Given the description of an element on the screen output the (x, y) to click on. 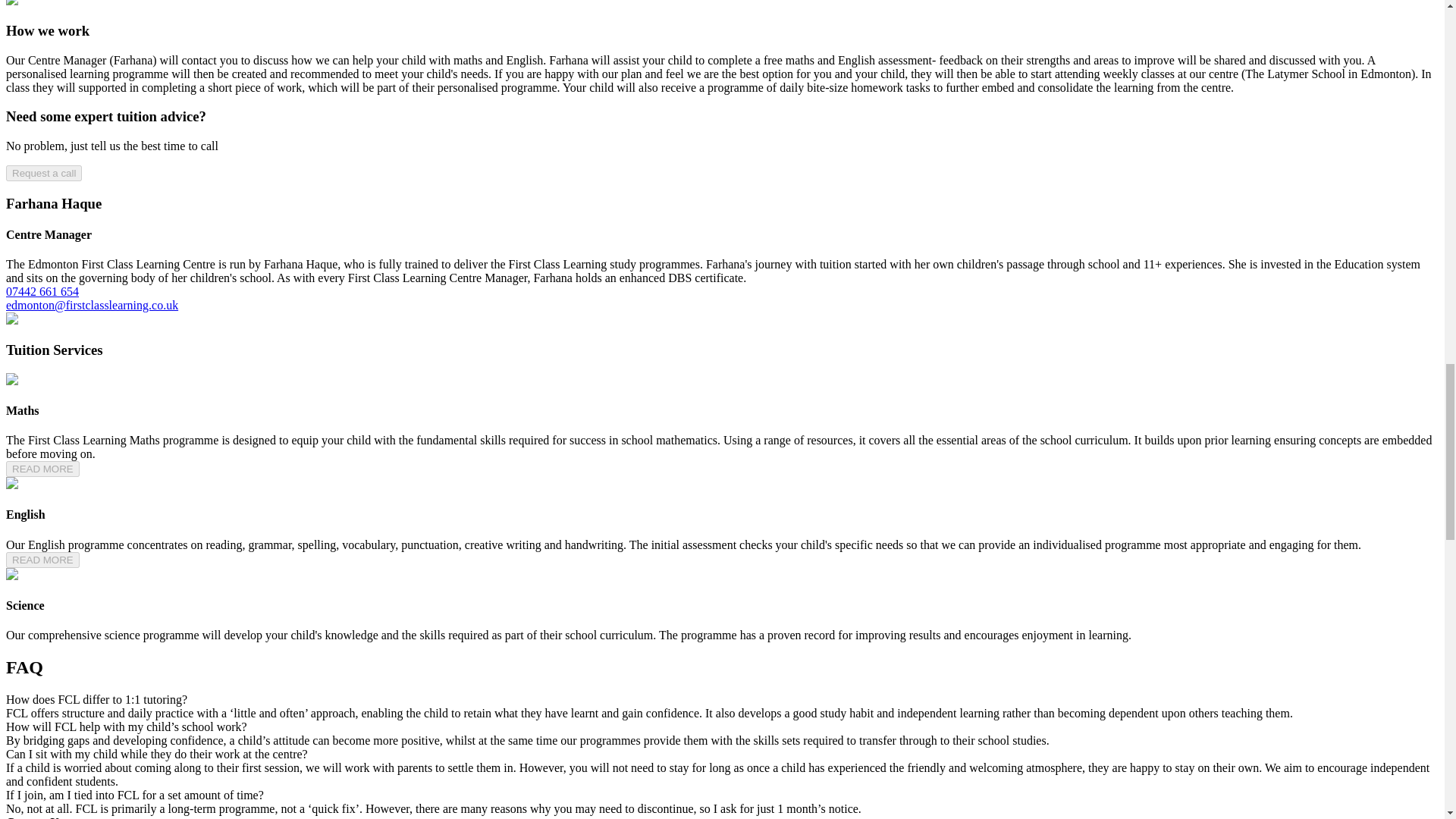
Request a call (43, 172)
READ MORE (42, 560)
READ MORE (42, 468)
READ MORE (42, 558)
07442 661 654 (41, 291)
READ MORE (42, 468)
